Given the description of an element on the screen output the (x, y) to click on. 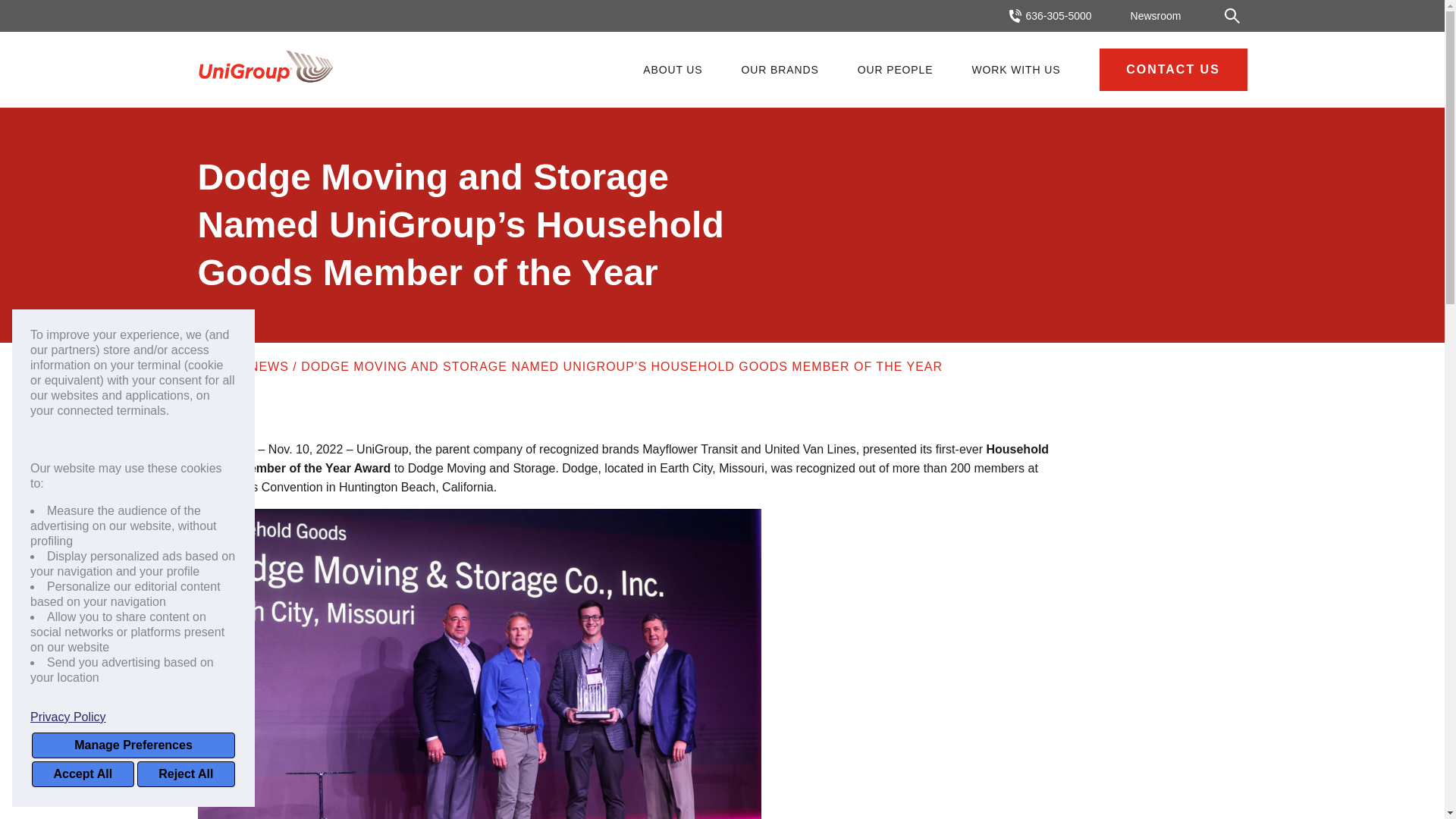
Newsroom (1155, 15)
ABOUT US (672, 69)
WORK WITH US (1015, 69)
OUR BRANDS (780, 69)
Reject All (185, 774)
OUR PEOPLE (895, 69)
Privacy Policy (132, 717)
CONTACT US (1173, 69)
636-305-5000 (1049, 15)
Manage Preferences (133, 745)
HOME (215, 366)
Accept All (82, 774)
NEWS (268, 366)
